Given the description of an element on the screen output the (x, y) to click on. 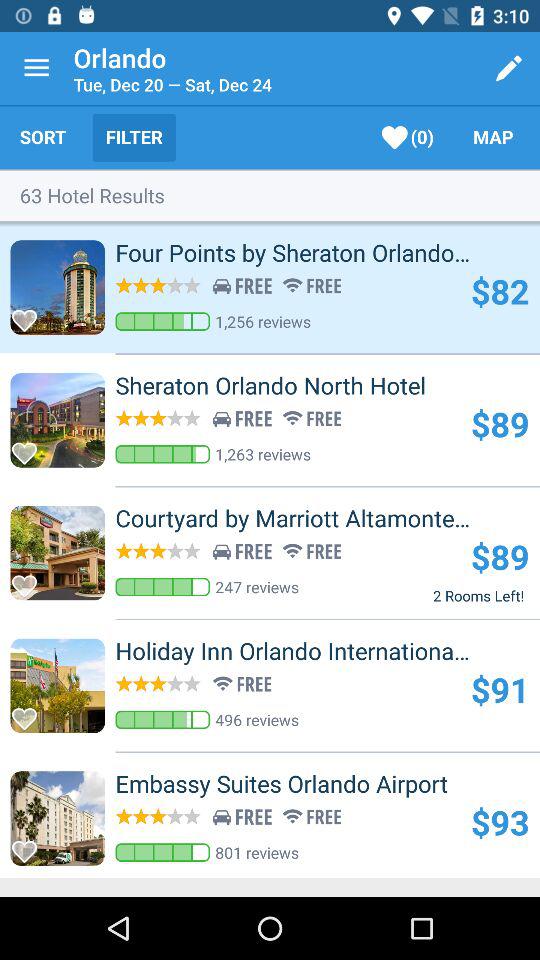
click to favorite (30, 580)
